Given the description of an element on the screen output the (x, y) to click on. 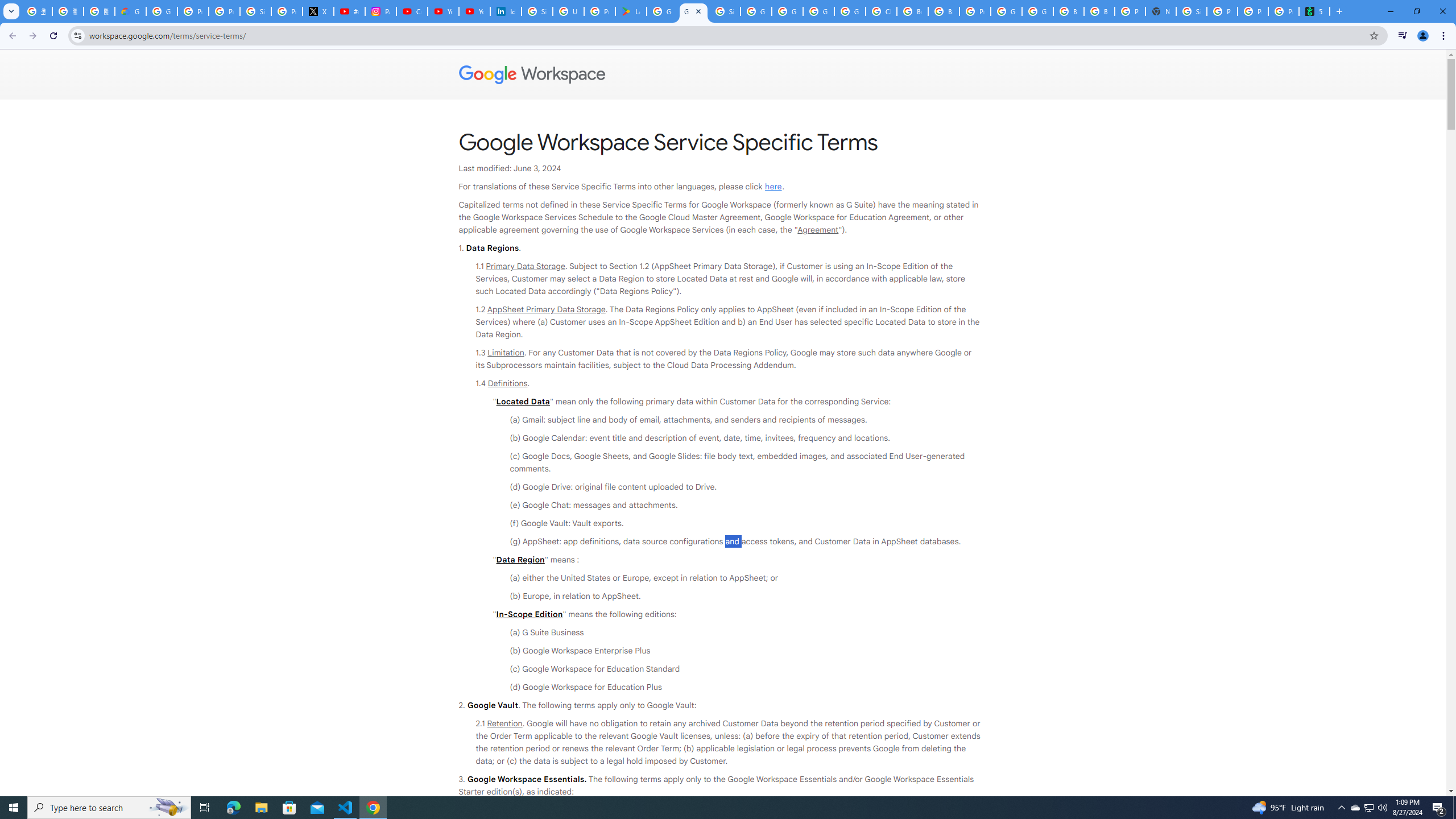
Sign in - Google Accounts (255, 11)
X (318, 11)
New Tab (1338, 11)
here (772, 186)
YouTube Culture & Trends - YouTube Top 10, 2021 (474, 11)
Control your music, videos, and more (1402, 35)
#nbabasketballhighlights - YouTube (349, 11)
Minimize (1390, 11)
Forward (32, 35)
